Given the description of an element on the screen output the (x, y) to click on. 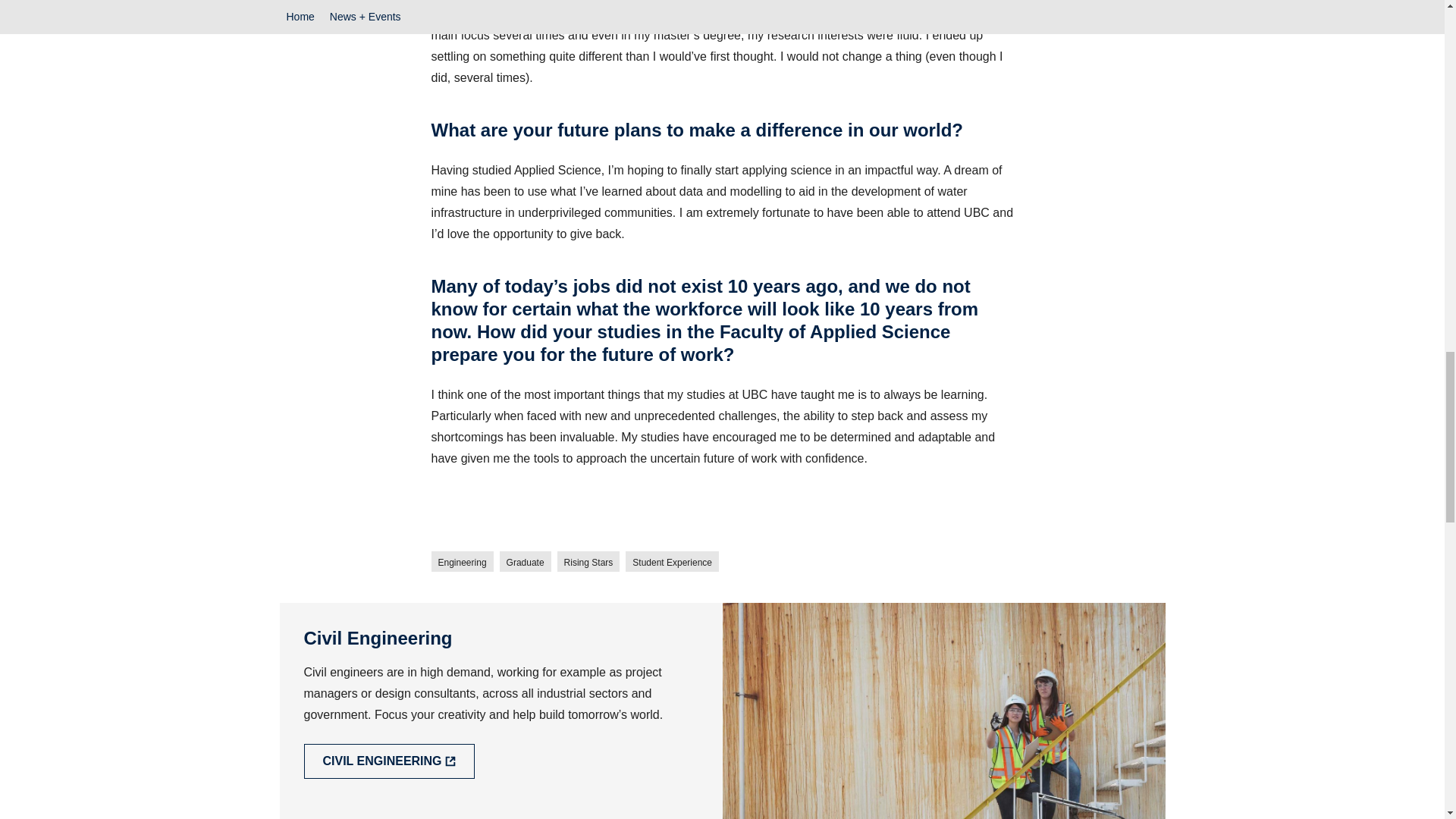
Rising Stars (588, 561)
Engineering (461, 561)
Graduate (525, 561)
Student Experience (672, 561)
Find out more about Civil Engineering (388, 760)
